Given the description of an element on the screen output the (x, y) to click on. 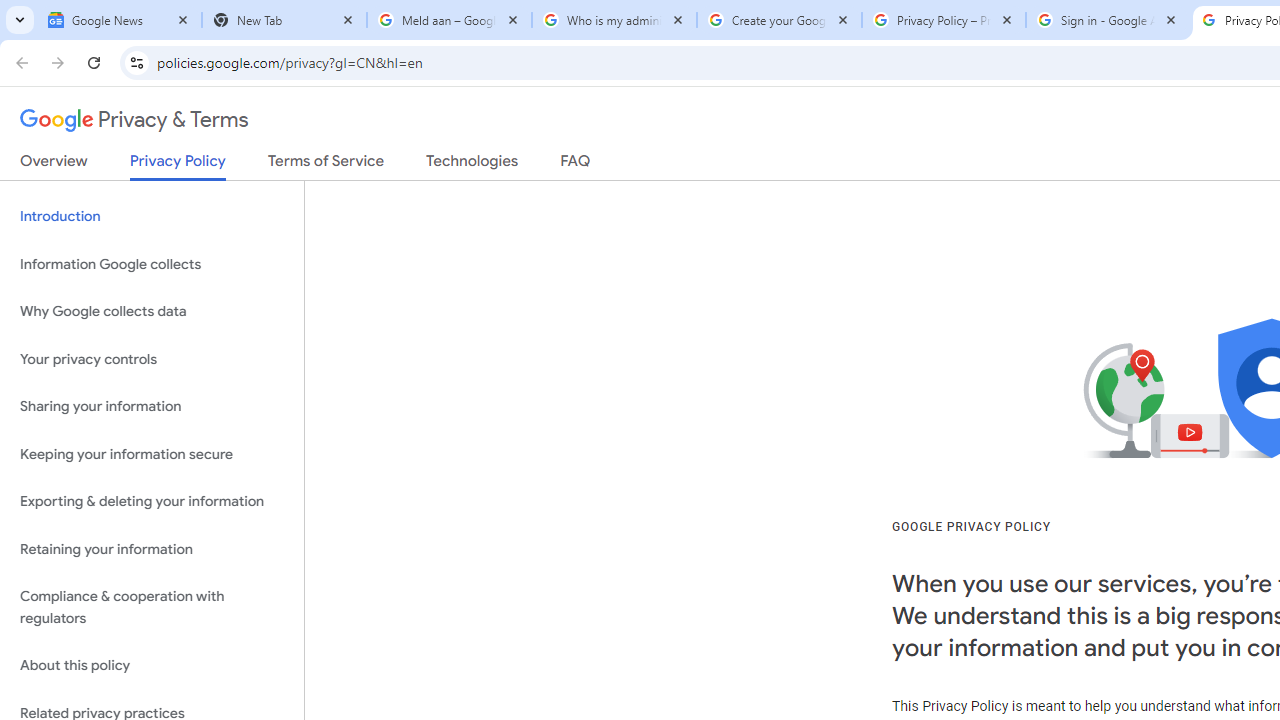
Google News (119, 20)
Sign in - Google Accounts (1108, 20)
Why Google collects data (152, 312)
Information Google collects (152, 263)
Who is my administrator? - Google Account Help (614, 20)
About this policy (152, 666)
Exporting & deleting your information (152, 502)
New Tab (284, 20)
Retaining your information (152, 548)
